Given the description of an element on the screen output the (x, y) to click on. 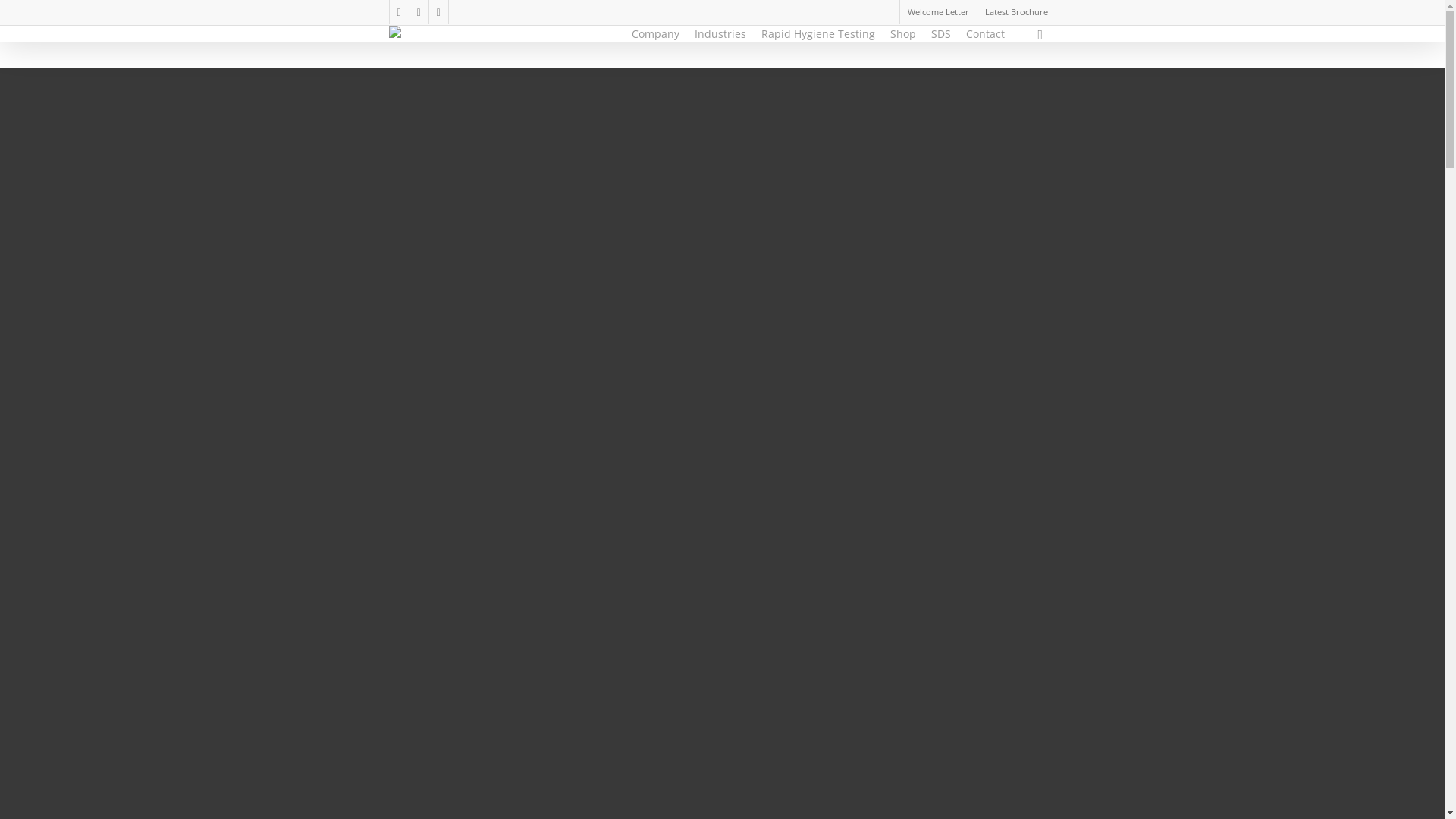
SDS Element type: text (940, 33)
Industries Element type: text (720, 33)
Welcome Letter Element type: text (937, 11)
Latest Brochure Element type: text (1015, 11)
Shop Element type: text (903, 33)
Rapid Hygiene Testing Element type: text (818, 33)
Contact Element type: text (985, 33)
Company Element type: text (654, 33)
